Given the description of an element on the screen output the (x, y) to click on. 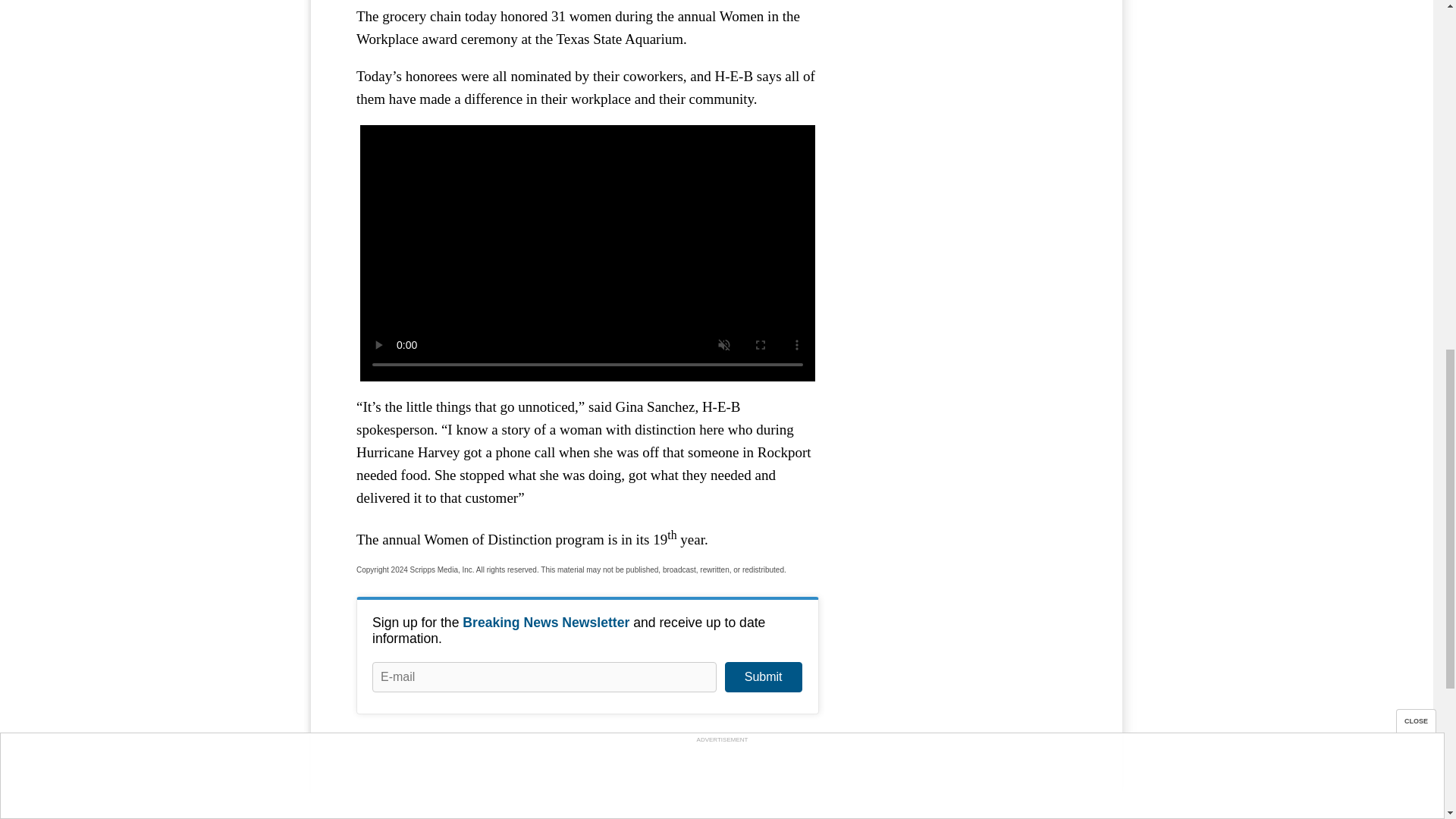
3rd party ad content (962, 28)
Submit (763, 676)
